Given the description of an element on the screen output the (x, y) to click on. 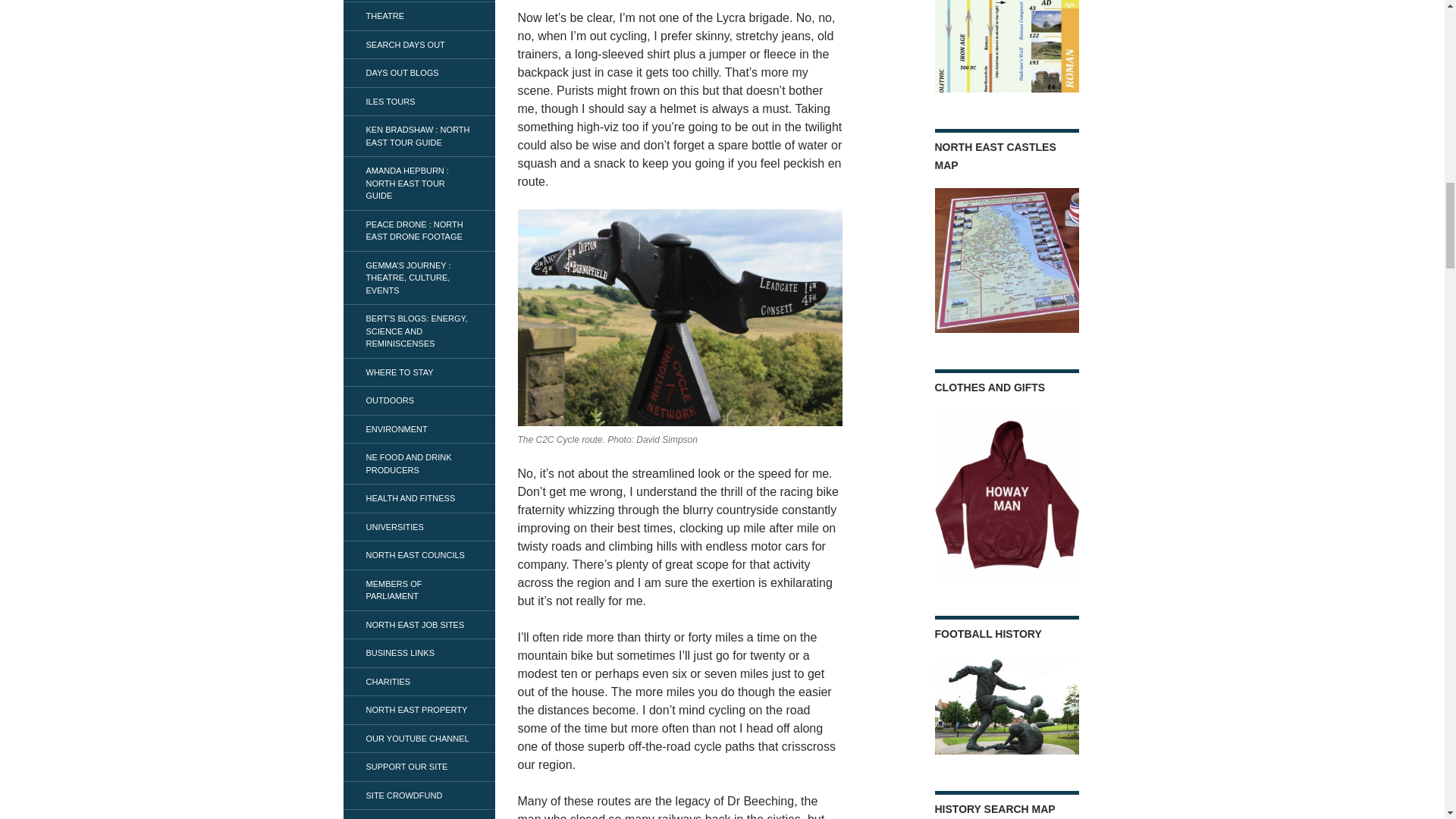
North East Castles and Bastles map (1006, 260)
